Given the description of an element on the screen output the (x, y) to click on. 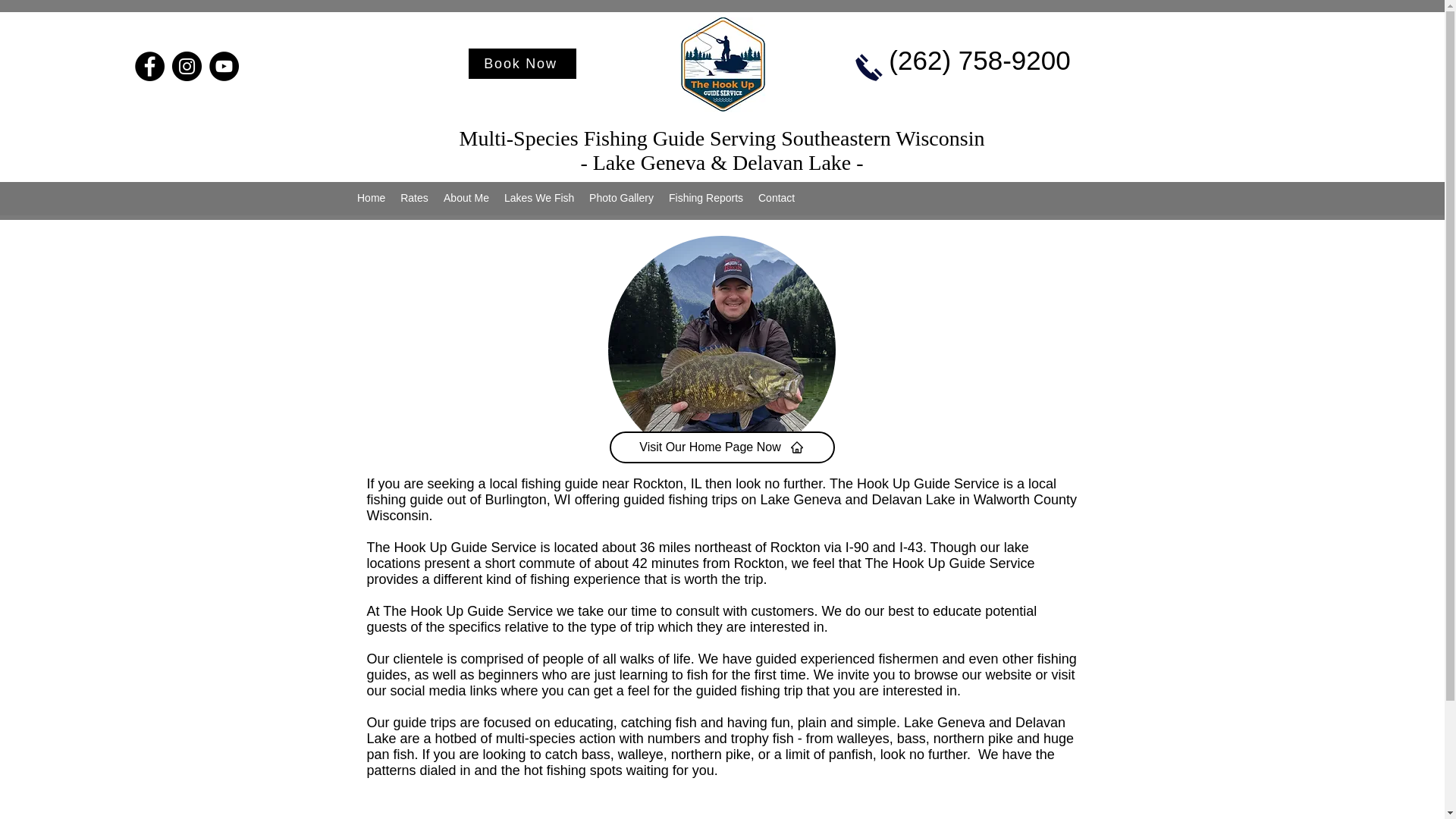
Visit Our Home Page Now (722, 447)
Fishing Reports (706, 197)
Lakes We Fish (538, 197)
Photo Gallery (620, 197)
Book Now (522, 63)
About Me (465, 197)
Contact (776, 197)
Home (371, 197)
